Given the description of an element on the screen output the (x, y) to click on. 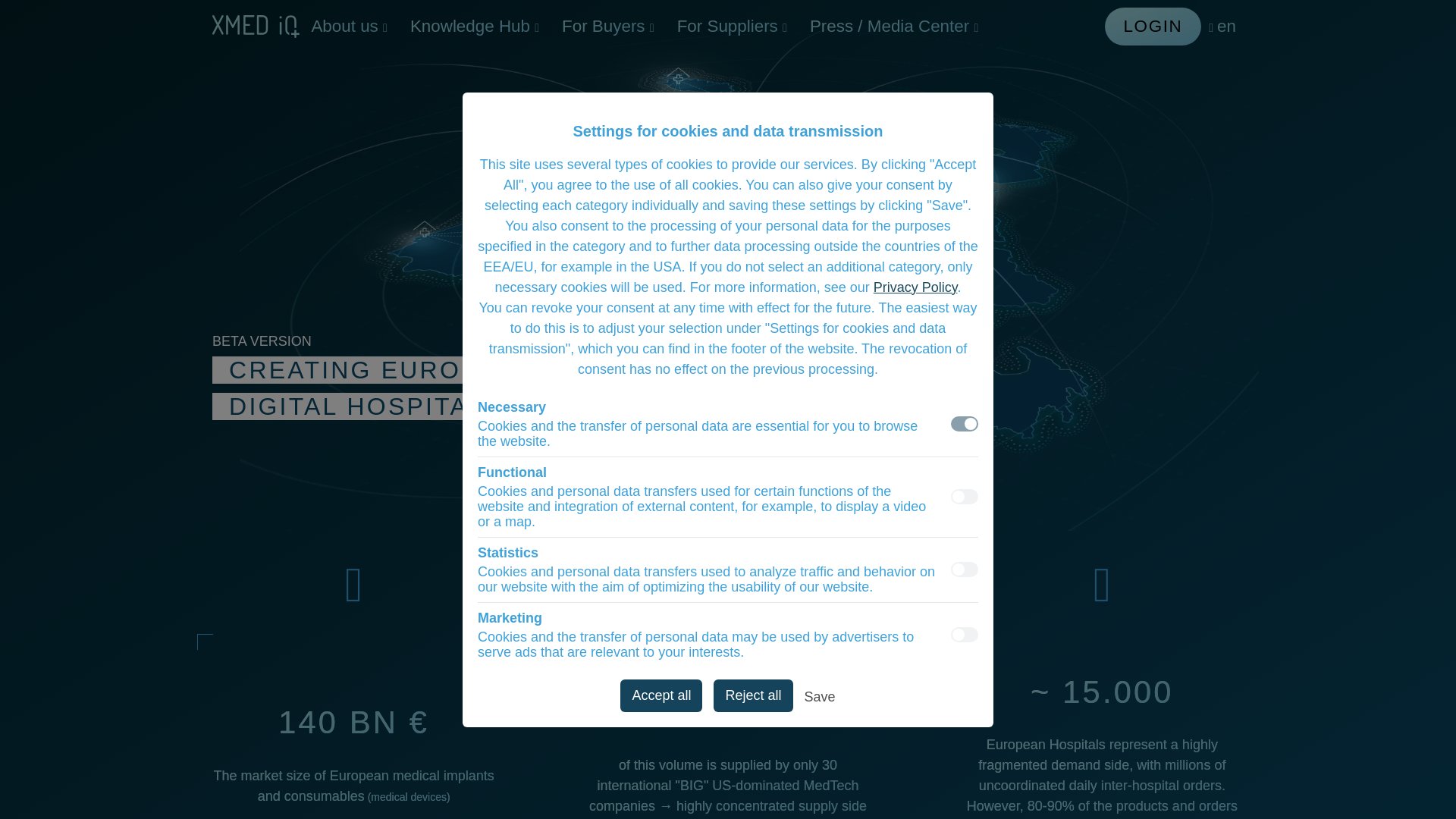
Accept all (660, 695)
About us (348, 26)
Privacy Policy (915, 286)
on (964, 423)
on (964, 569)
Knowledge Hub (474, 26)
on (964, 496)
LOGIN (1153, 26)
on (964, 634)
For Buyers (607, 26)
